Given the description of an element on the screen output the (x, y) to click on. 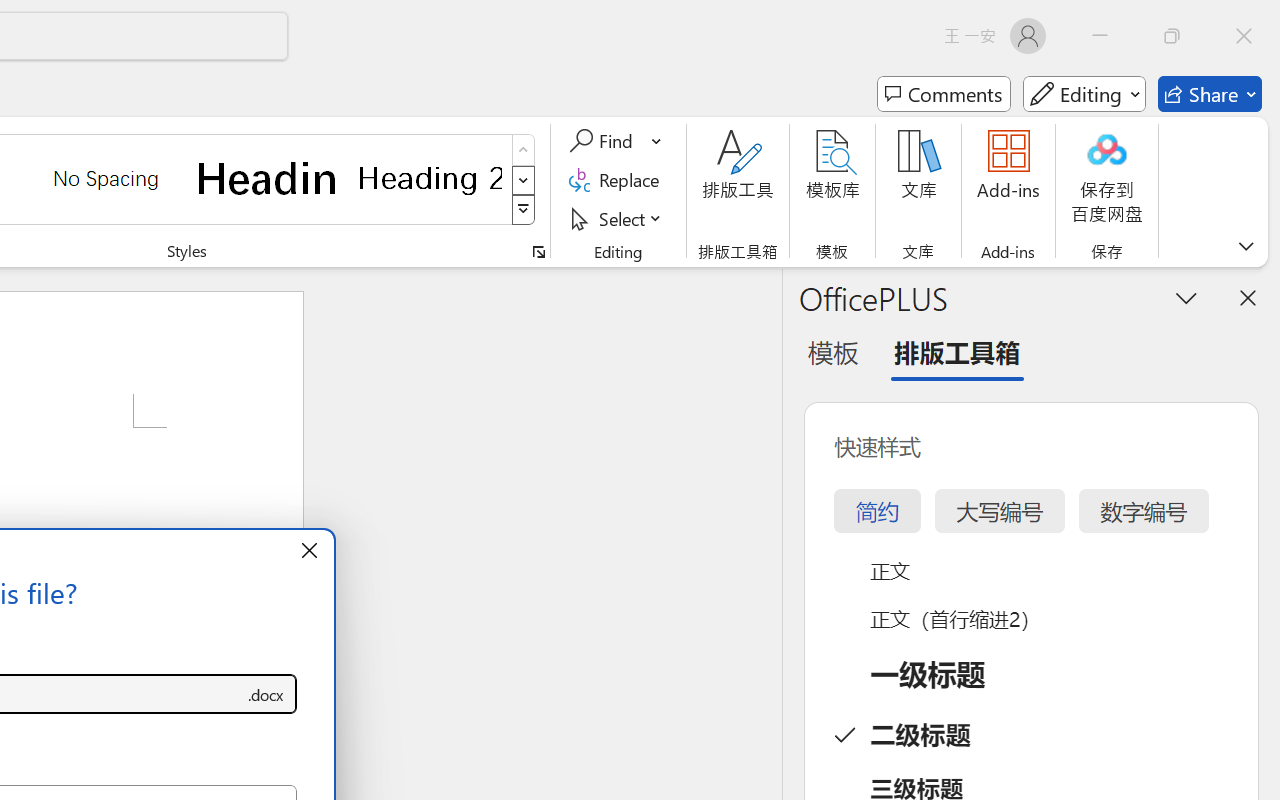
Save as type (265, 694)
